Given the description of an element on the screen output the (x, y) to click on. 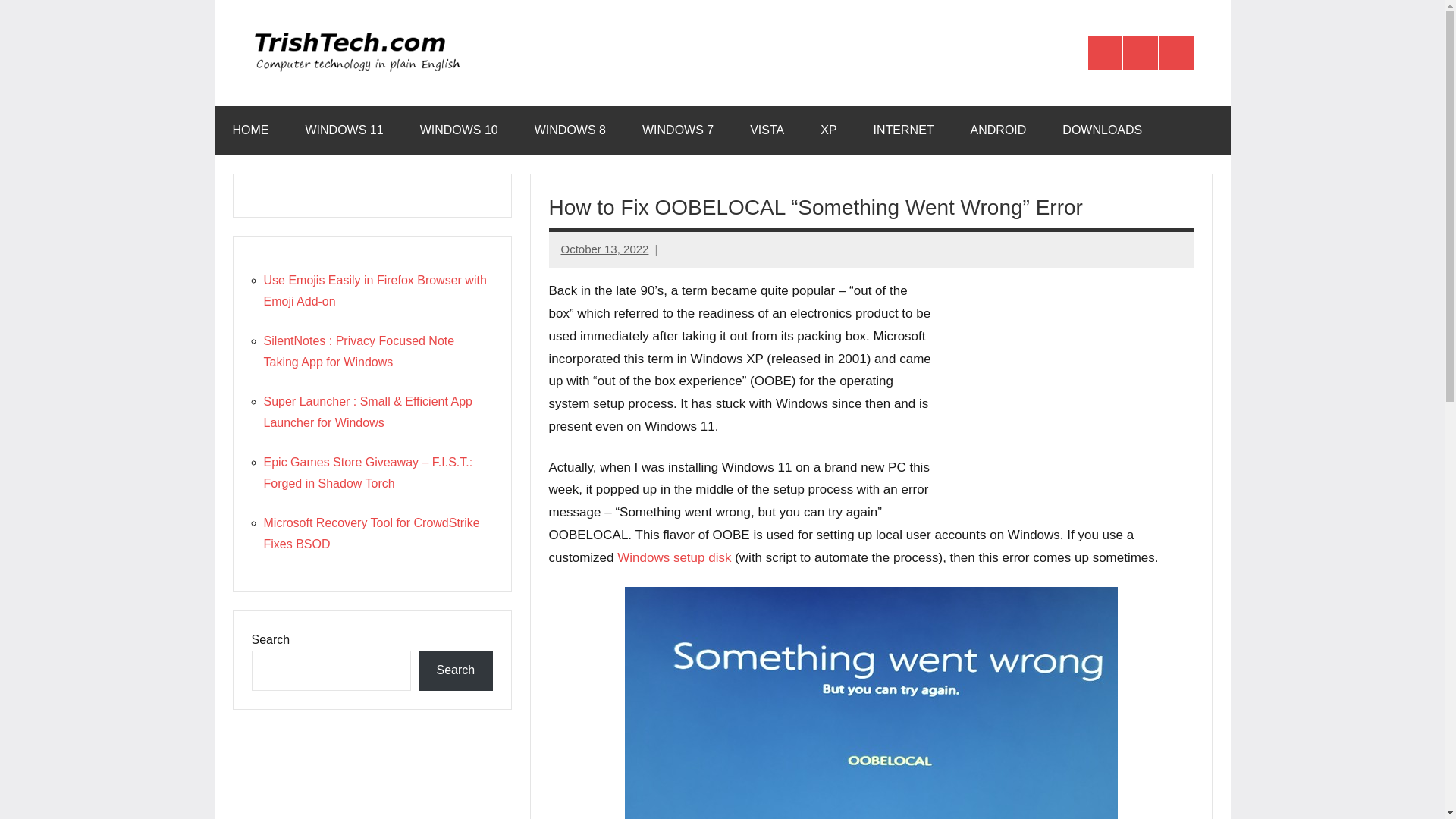
Microsoft Recovery Tool for CrowdStrike Fixes BSOD (371, 533)
Facebook (1104, 53)
SilentNotes : Privacy Focused Note Taking App for Windows (358, 351)
XP (828, 130)
Windows setup disk (673, 557)
Microsoft Recovery Tool for CrowdStrike Fixes BSOD (371, 533)
INTERNET (904, 130)
X (1139, 53)
WINDOWS 8 (570, 130)
October 13, 2022 (604, 248)
WINDOWS 11 (343, 130)
Use Emojis Easily in Firefox Browser with Emoji Add-on (374, 290)
ANDROID (998, 130)
Use Emojis Easily in Firefox Browser with Emoji Add-on (374, 290)
VISTA (767, 130)
